Given the description of an element on the screen output the (x, y) to click on. 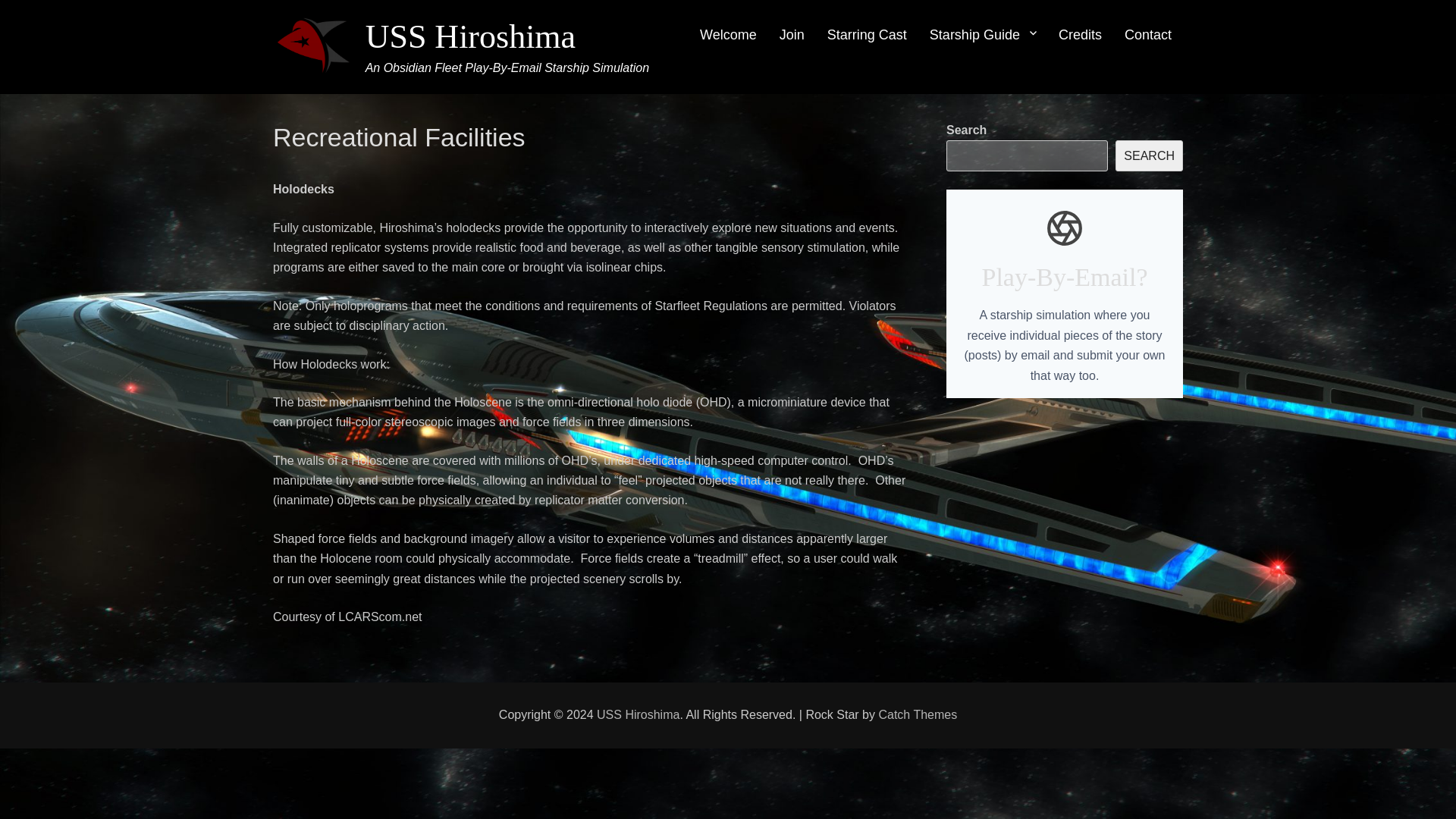
USS Hiroshima (470, 36)
Welcome (728, 35)
Catch Themes (916, 714)
Starring Cast (866, 35)
Contact (1147, 35)
USS Hiroshima (637, 714)
SEARCH (1148, 155)
Starship Guide (982, 35)
Credits (1079, 35)
